Given the description of an element on the screen output the (x, y) to click on. 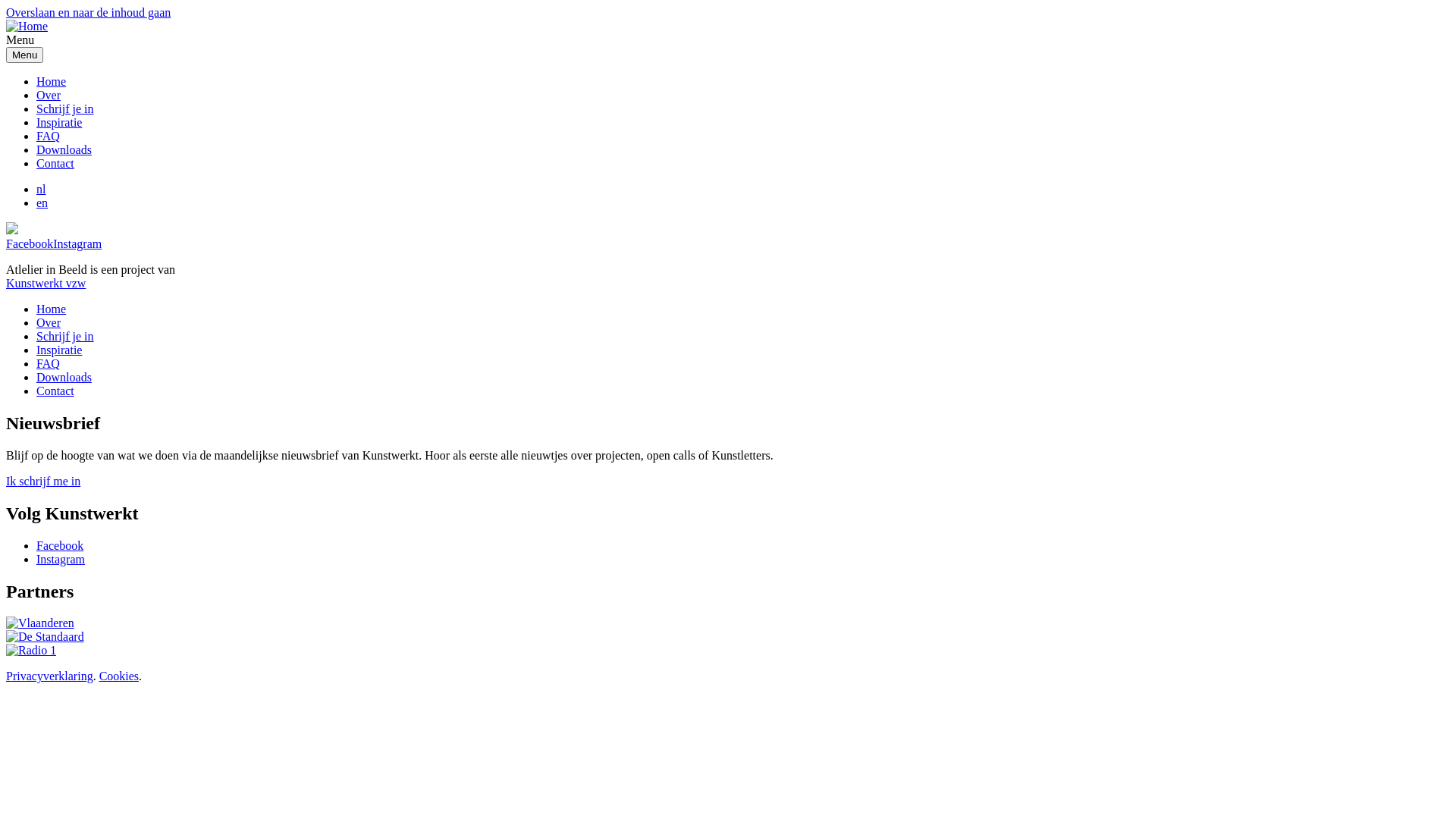
Home Element type: hover (26, 25)
Inspiratie Element type: text (58, 122)
Inspiratie Element type: text (58, 349)
Over Element type: text (48, 94)
FAQ Element type: text (47, 363)
Contact Element type: text (55, 390)
Facebook Element type: text (59, 545)
nl Element type: text (40, 188)
Schrijf je in Element type: text (65, 335)
Kunstwerkt vzw Element type: text (45, 282)
Home Element type: text (50, 308)
Downloads Element type: text (63, 376)
Privacyverklaring Element type: text (49, 675)
Schrijf je in Element type: text (65, 108)
Over Element type: text (48, 322)
Menu Element type: text (24, 54)
en Element type: text (41, 202)
Instagram Element type: text (60, 558)
Instagram Element type: text (77, 243)
Overslaan en naar de inhoud gaan Element type: text (88, 12)
FAQ Element type: text (47, 135)
Contact Element type: text (55, 162)
Ik schrijf me in Element type: text (43, 480)
Facebook Element type: text (29, 243)
Home Element type: text (50, 81)
Cookies Element type: text (118, 675)
Downloads Element type: text (63, 149)
